Given the description of an element on the screen output the (x, y) to click on. 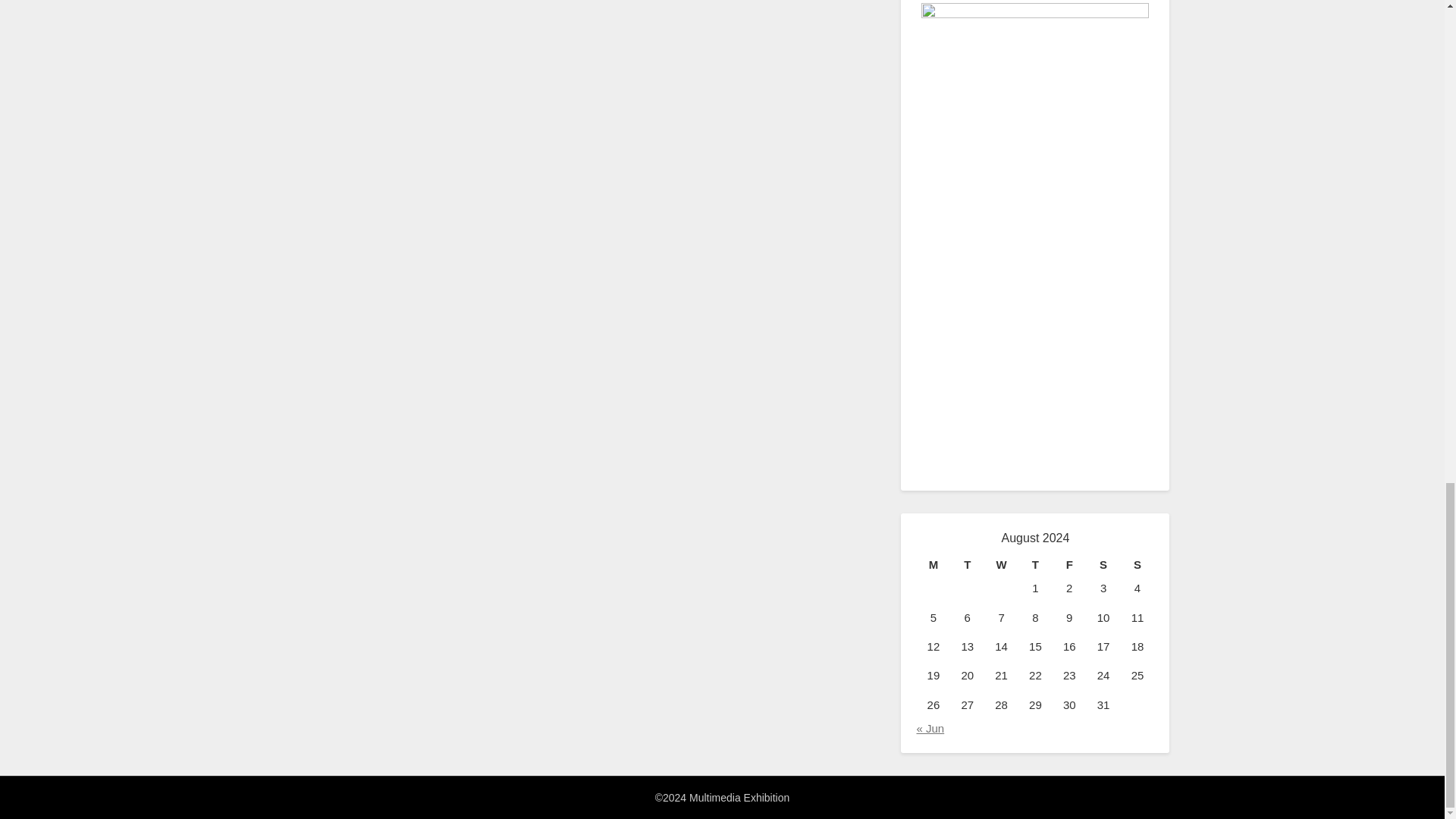
Friday (1069, 565)
Thursday (1034, 565)
Wednesday (1000, 565)
Tuesday (967, 565)
Monday (932, 565)
Sunday (1137, 565)
Saturday (1103, 565)
